Given the description of an element on the screen output the (x, y) to click on. 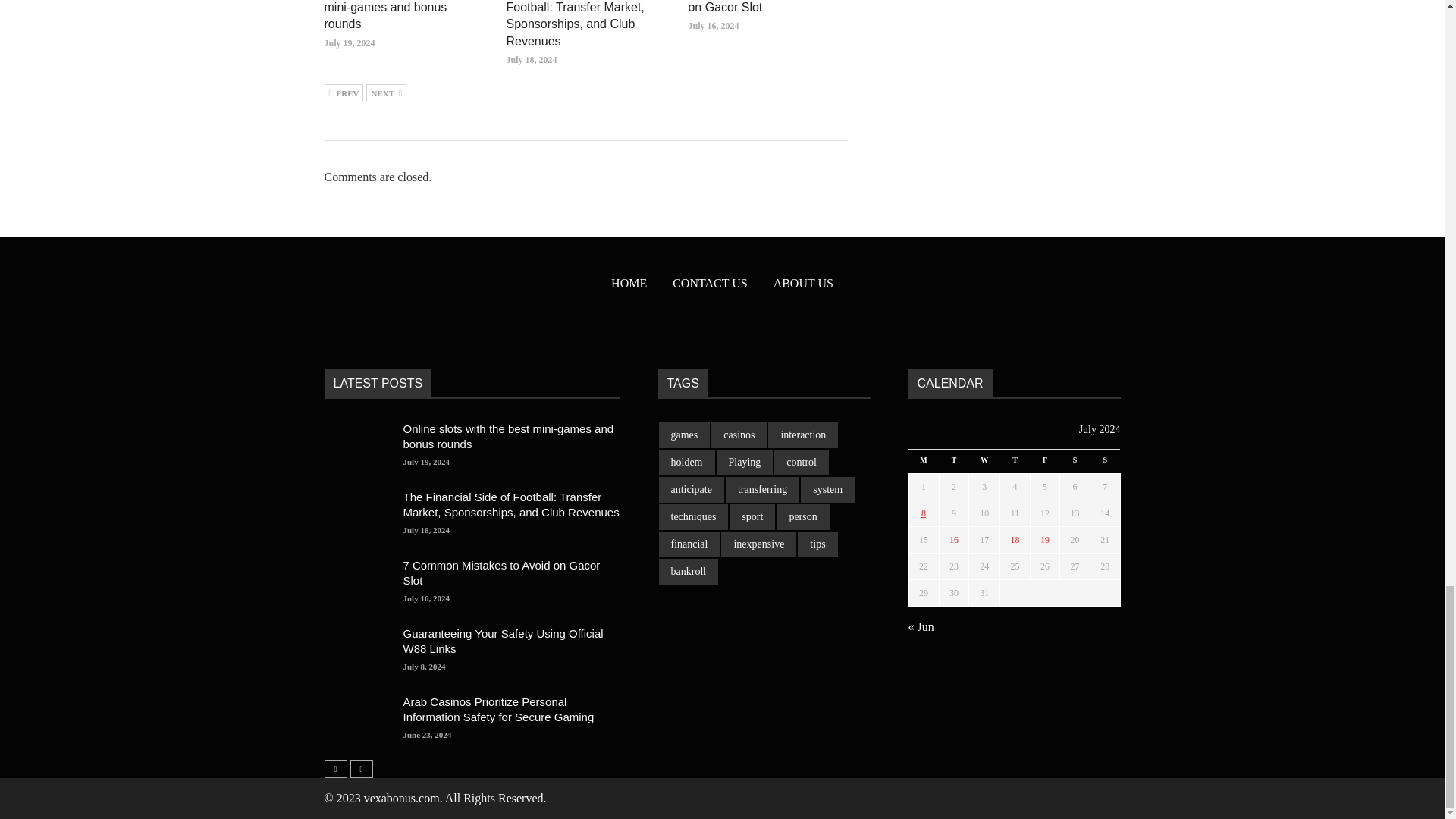
Previous (344, 93)
